Given the description of an element on the screen output the (x, y) to click on. 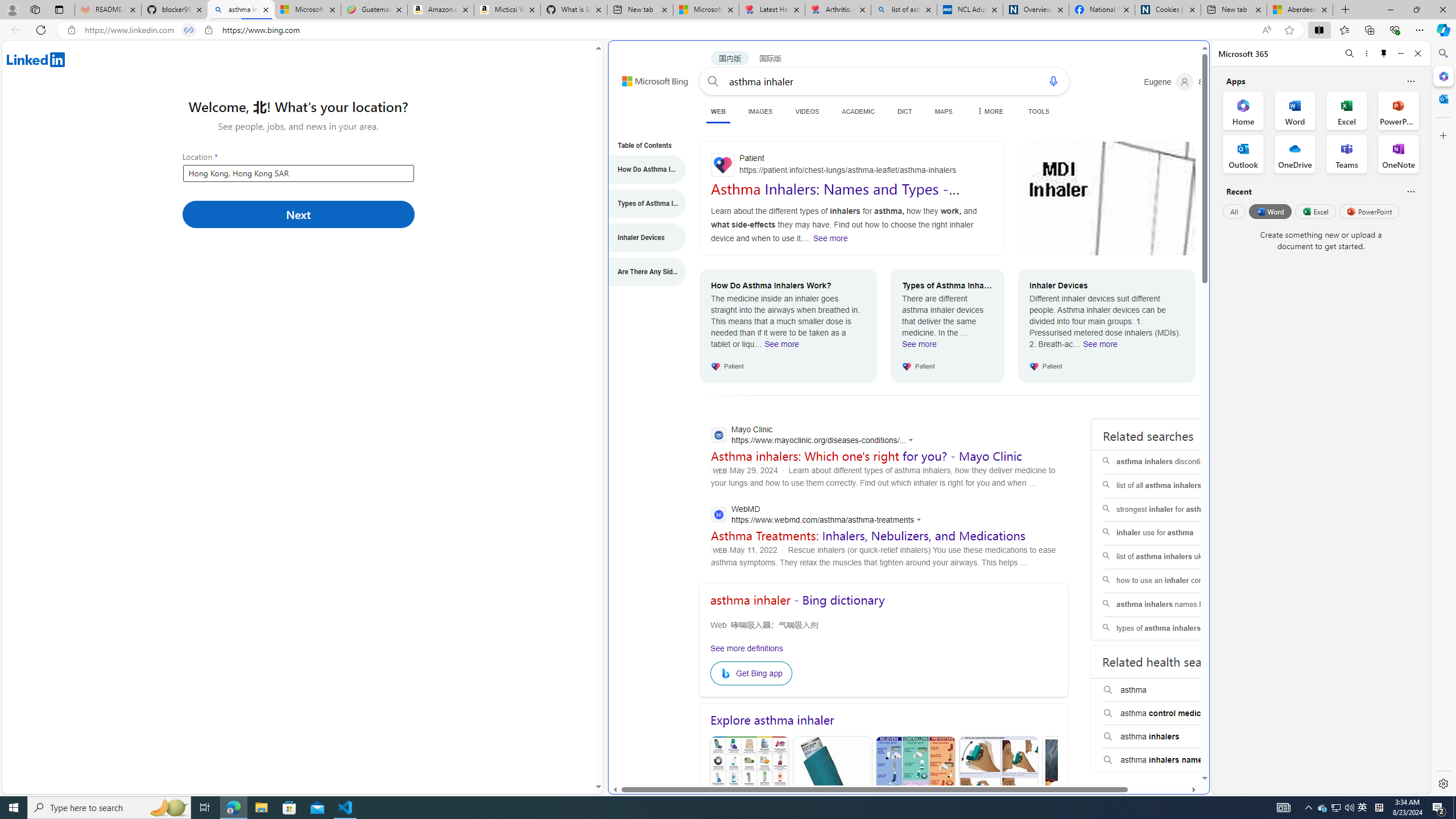
WebMD (818, 515)
Excel (1315, 210)
All (1233, 210)
list of asthma inhalers uk (1174, 556)
strongest inhaler for asthma (1174, 509)
Patient (851, 164)
inhaler use for asthma (1174, 533)
Outlook Office App (1243, 154)
asthma inhalers (1174, 736)
